Given the description of an element on the screen output the (x, y) to click on. 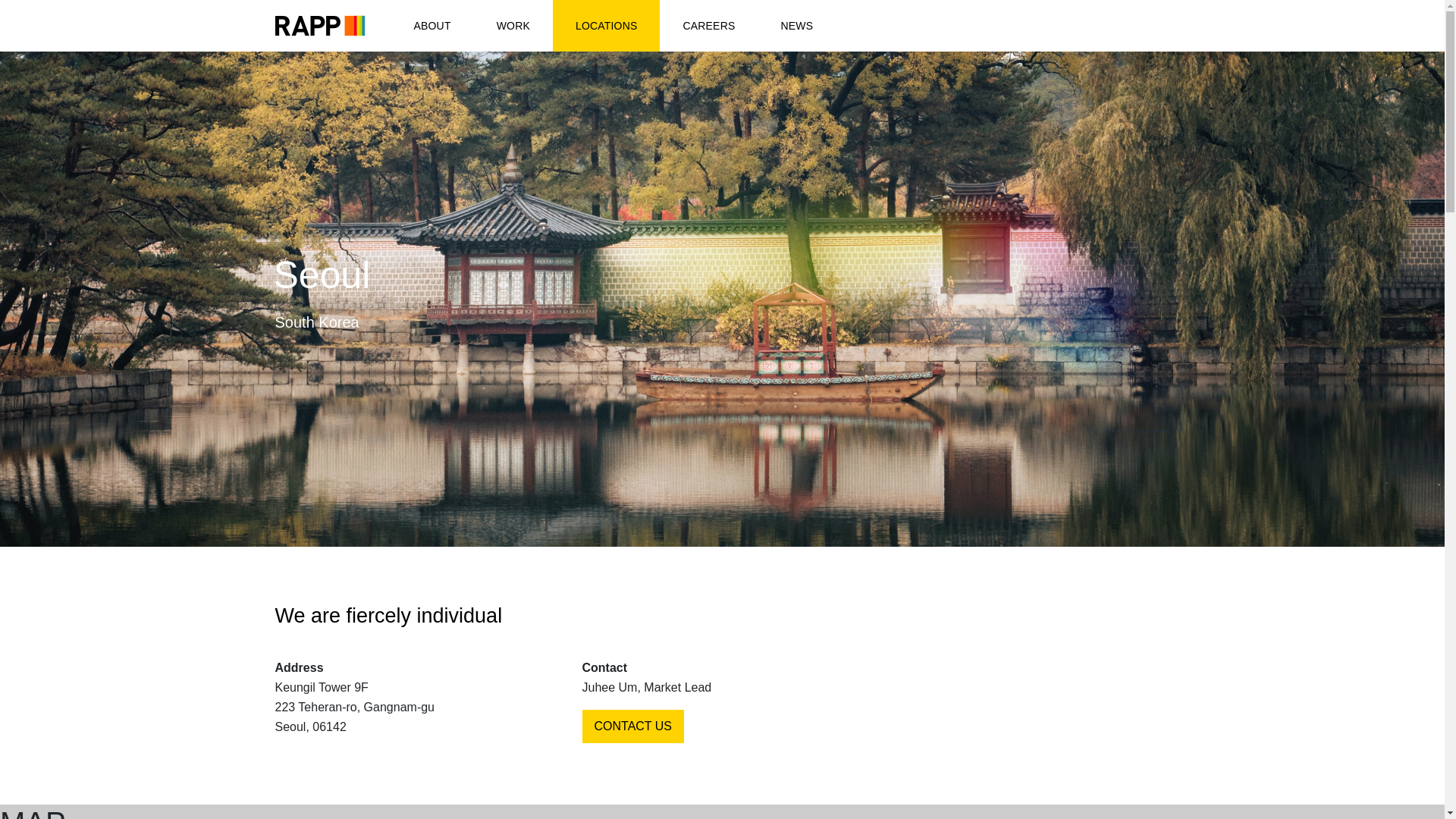
NEWS (796, 25)
CONTACT US (633, 726)
WORK (513, 25)
ABOUT (432, 25)
LOCATIONS (607, 25)
CAREERS (708, 25)
